Given the description of an element on the screen output the (x, y) to click on. 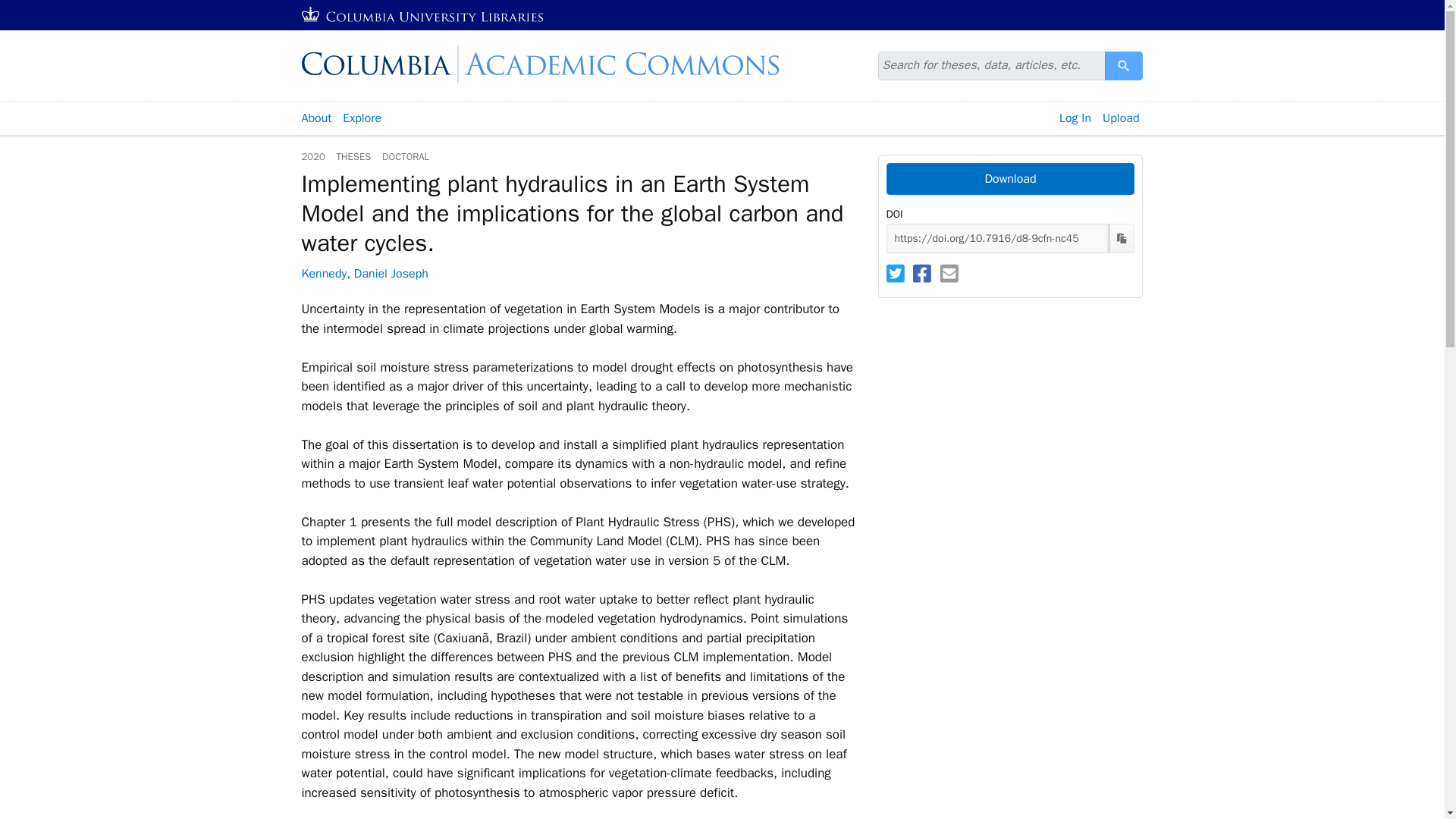
Log In (1074, 118)
Download (1123, 65)
Share to Email (1009, 178)
Share to Email (949, 274)
Kennedy, Daniel Joseph (949, 272)
About (364, 273)
Download (315, 118)
Share to Facebook (1121, 238)
Share to Twitter (1009, 178)
Columbia University Libraries (921, 274)
Copy DOI to clipboard (894, 272)
Academic Commons (422, 14)
Search (1121, 237)
